Given the description of an element on the screen output the (x, y) to click on. 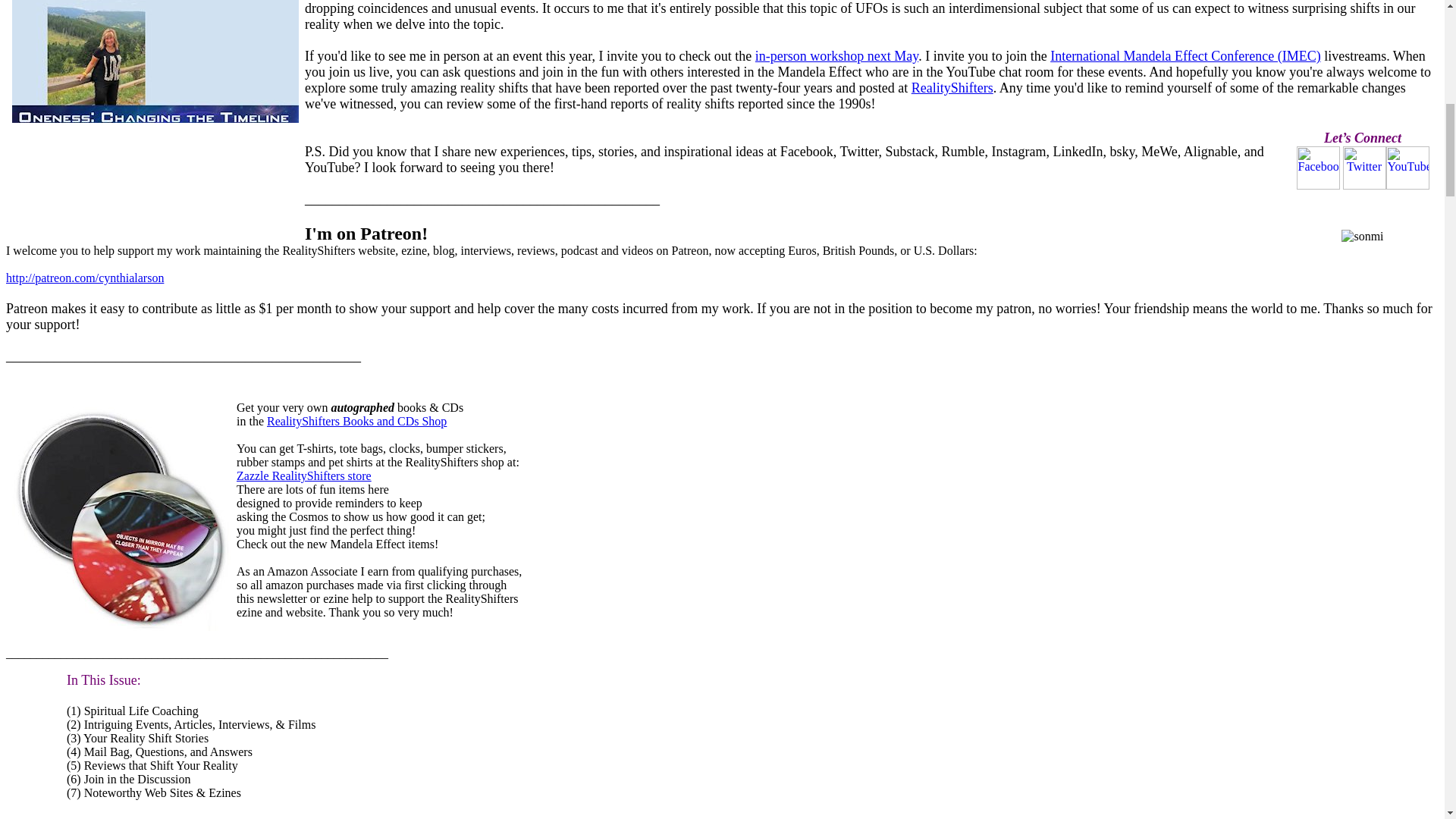
RealityShifters (951, 87)
RealityShifters Books and CDs Shop (356, 420)
Twitter-ico (1364, 167)
Facebook (1318, 167)
Zazzle RealityShifters store (303, 475)
YouTube (1407, 167)
in-person workshop next May (836, 55)
